Given the description of an element on the screen output the (x, y) to click on. 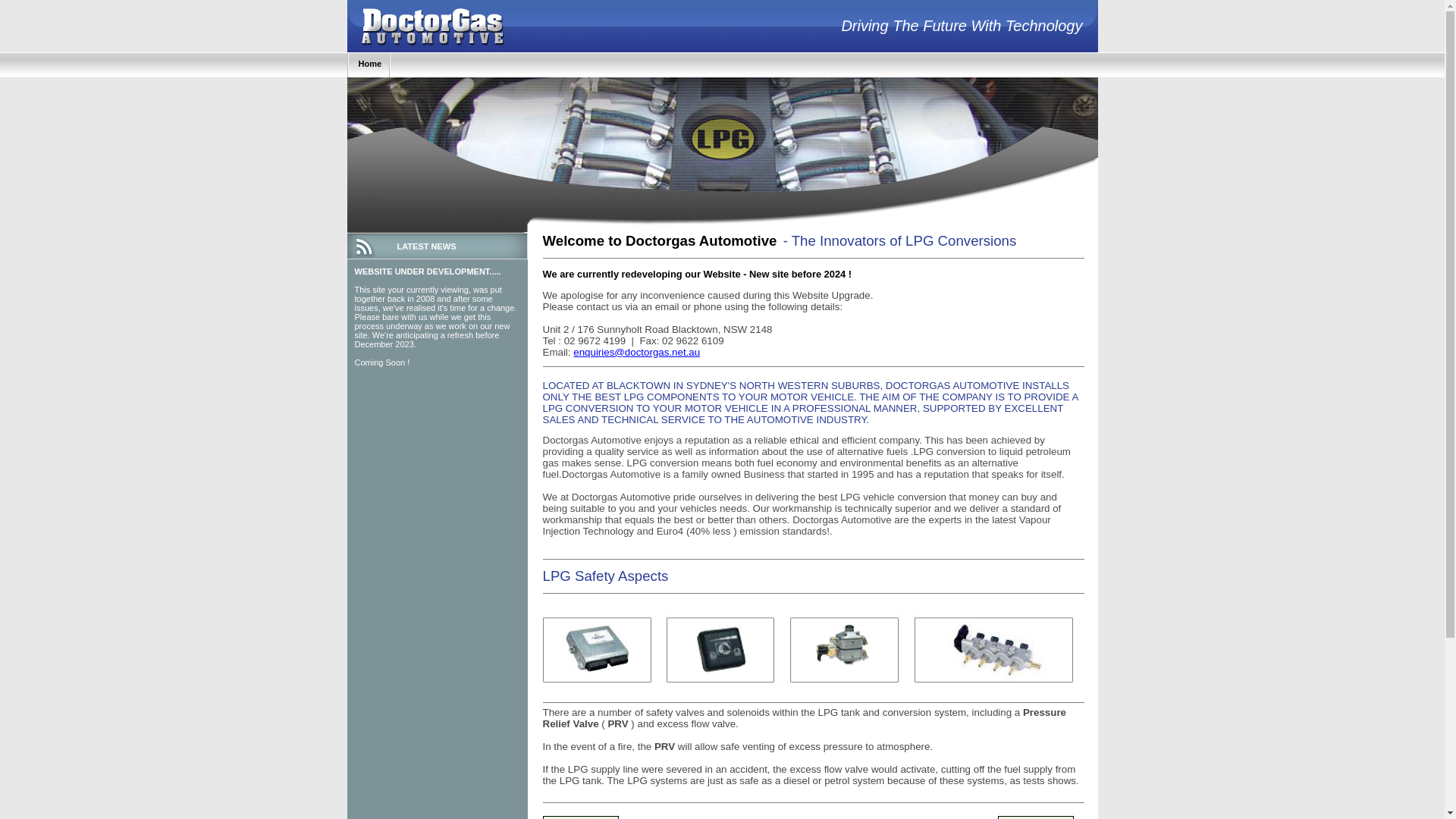
enquiries@doctorgas.net.au Element type: text (636, 351)
Home Element type: text (369, 63)
